Given the description of an element on the screen output the (x, y) to click on. 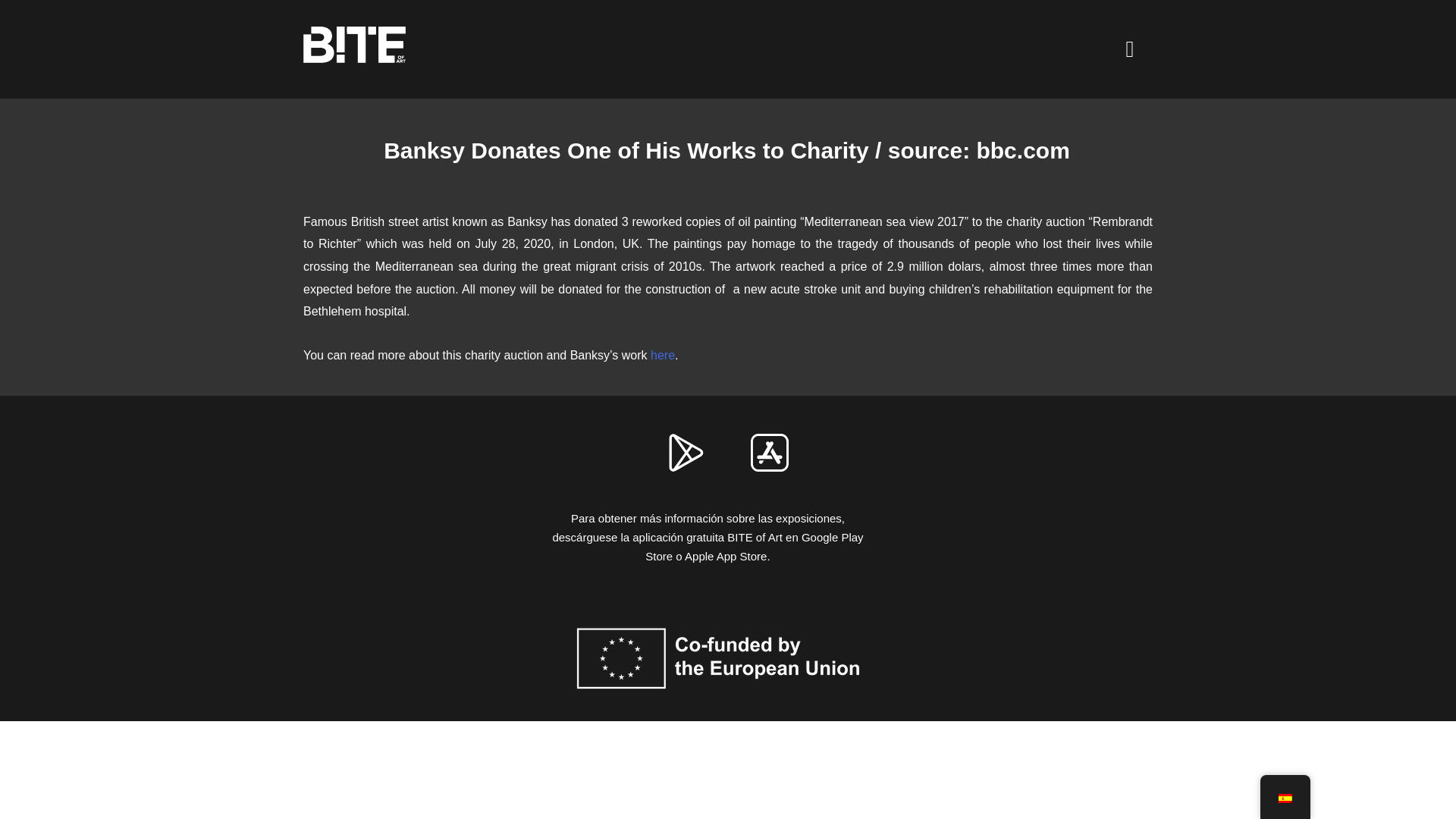
Spanish (1285, 798)
here (662, 354)
